Given the description of an element on the screen output the (x, y) to click on. 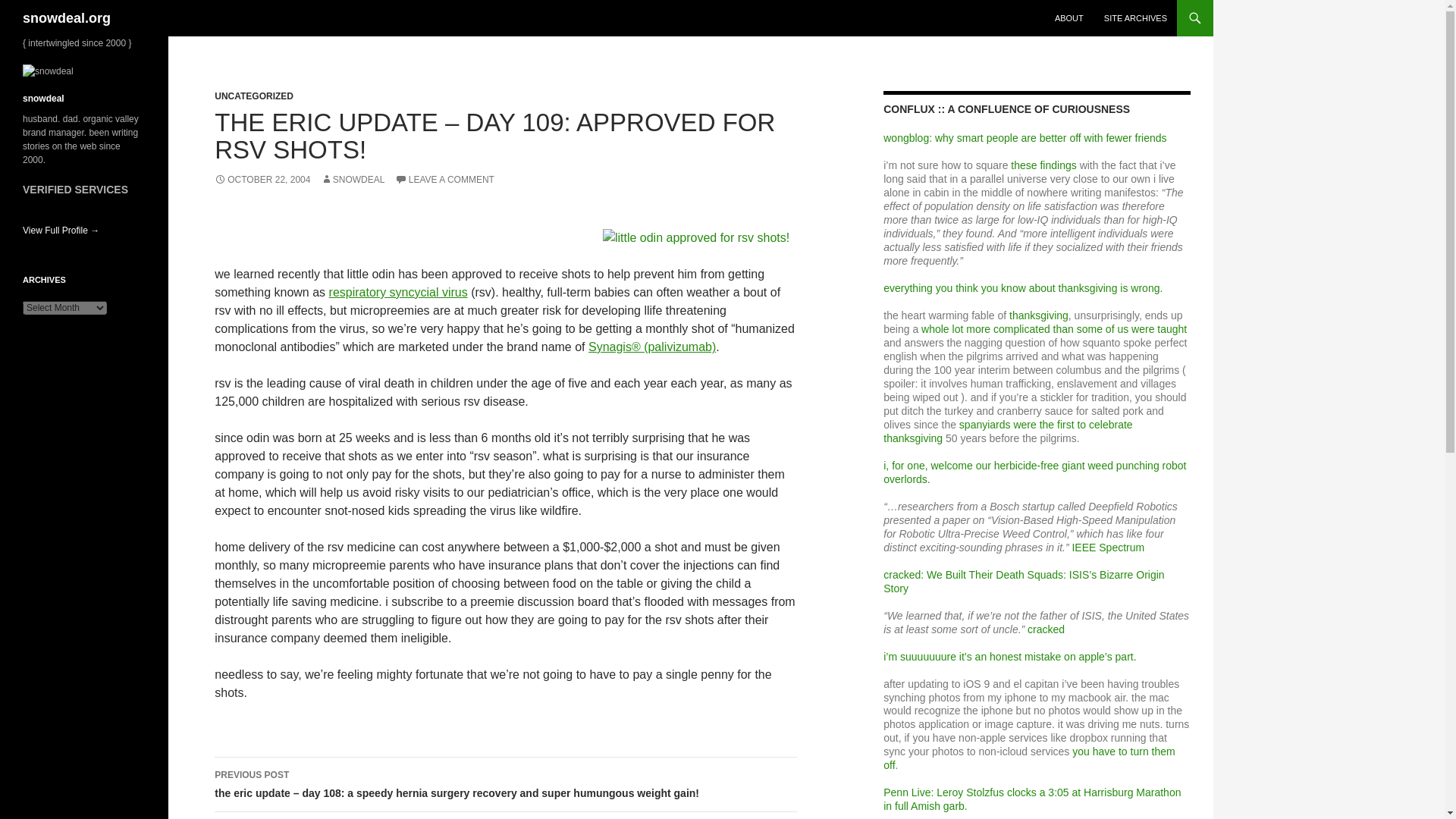
snowdeal.org (66, 18)
you have to turn them off (1028, 758)
everything you think you know about thanksgiving is wrong. (1022, 287)
wongblog: why smart people are better off with fewer friends (1024, 137)
IEEE Spectrum (1107, 547)
SNOWDEAL (352, 179)
these findings (1042, 164)
thanksgiving (1038, 315)
spanyiards were the first to celebrate thanksgiving (1007, 431)
respiratory syncycial virus (398, 291)
whole lot more complicated than some of us were taught (1053, 328)
little odin approved for rsv shots! (695, 238)
